Given the description of an element on the screen output the (x, y) to click on. 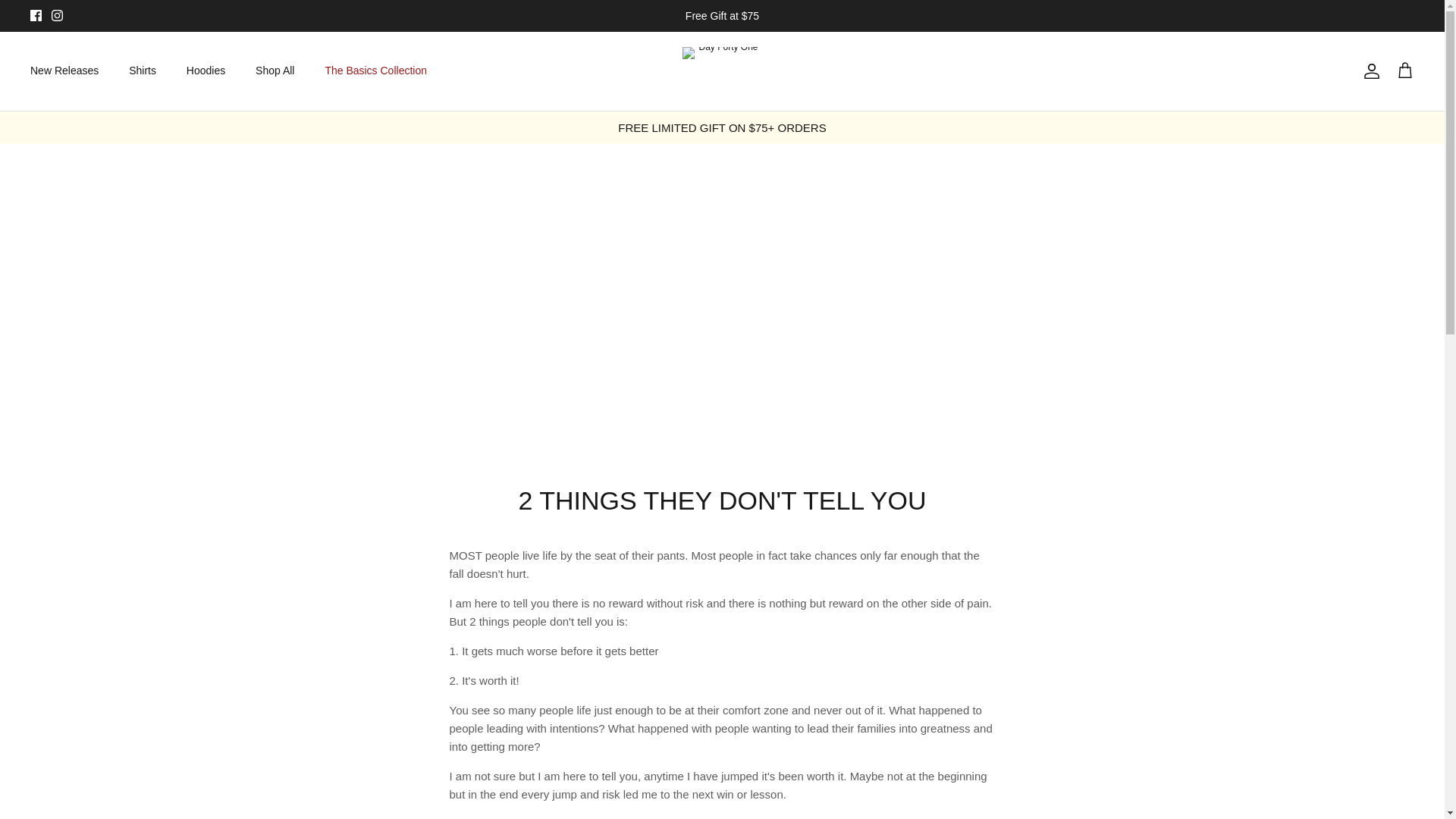
Cart (1404, 71)
Shop All (274, 70)
Day Forty One (721, 70)
Shirts (142, 70)
Hoodies (205, 70)
Facebook (36, 15)
Account (1368, 71)
Facebook (36, 15)
The Basics Collection (376, 70)
New Releases (64, 70)
Instagram (56, 15)
Instagram (56, 15)
